Given the description of an element on the screen output the (x, y) to click on. 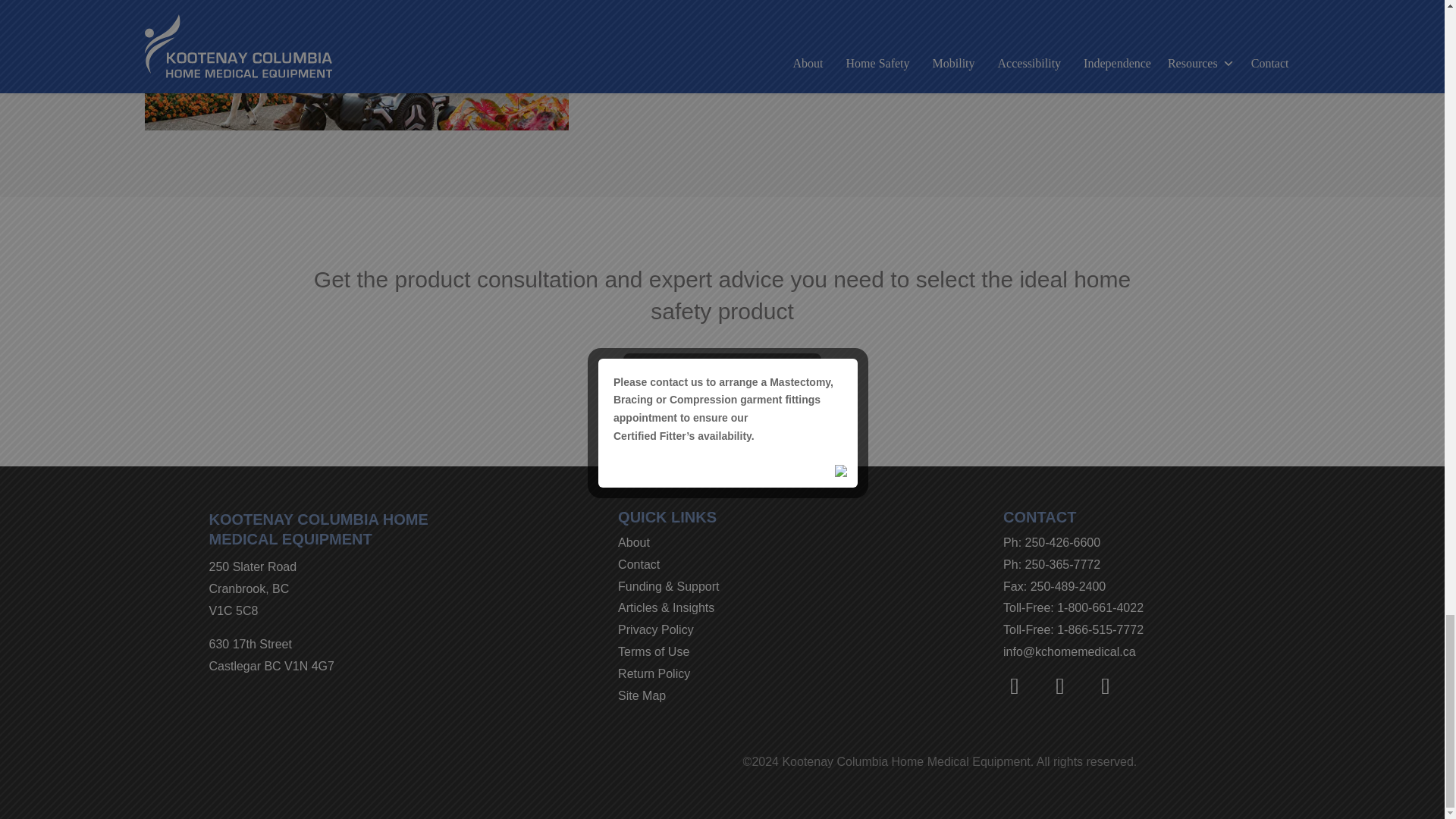
Mask Group 1 (355, 65)
Follow on Instagram (1059, 686)
Follow on Facebook (1013, 686)
Follow on LinkedIn (1105, 686)
